Given the description of an element on the screen output the (x, y) to click on. 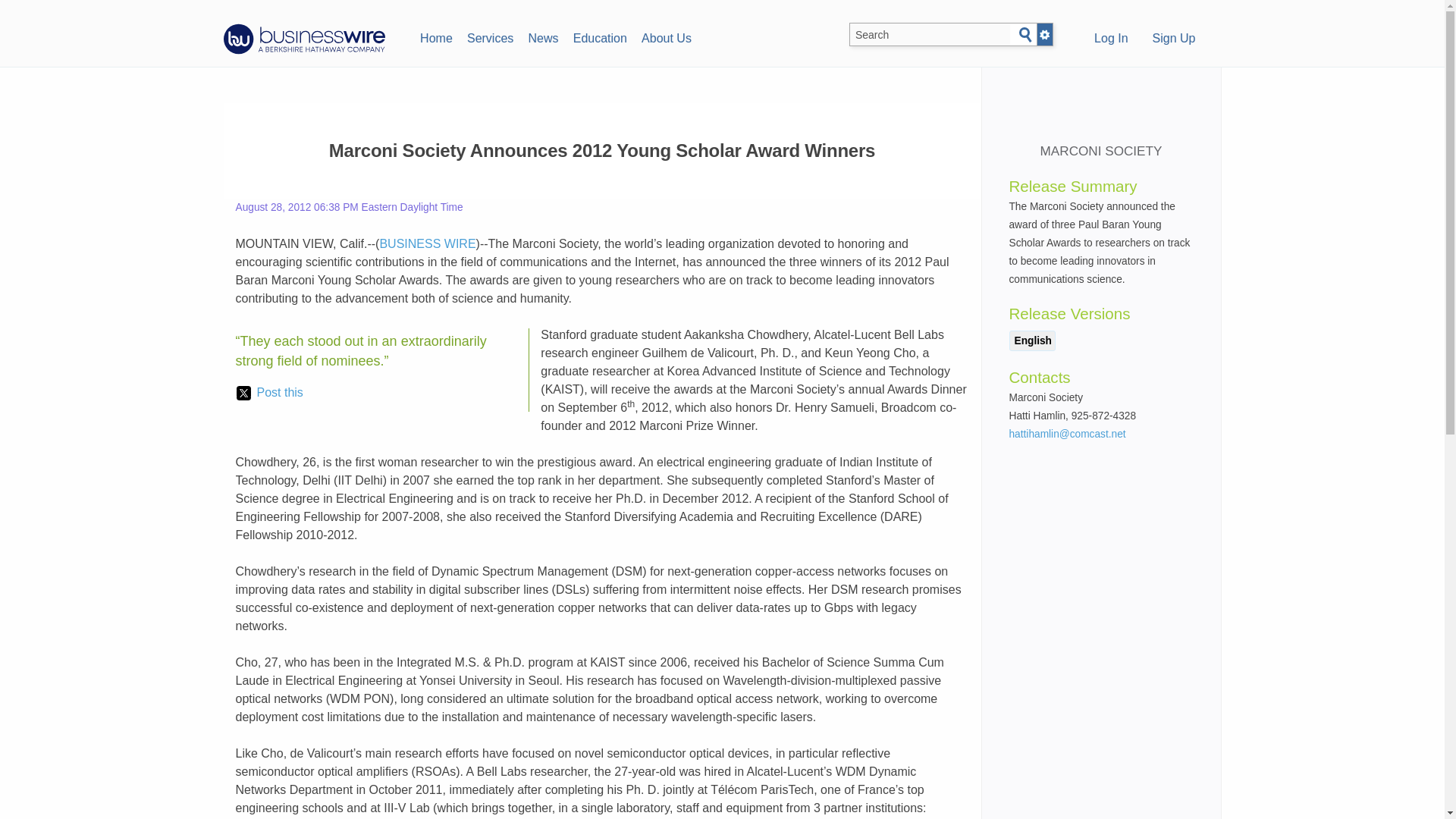
Log In (1110, 39)
Search BusinessWire.com (930, 34)
Post this (269, 392)
Search (1025, 34)
Home (436, 36)
BUSINESS WIRE (427, 243)
About Us (665, 36)
News (543, 36)
Education (599, 36)
Services (490, 36)
